Given the description of an element on the screen output the (x, y) to click on. 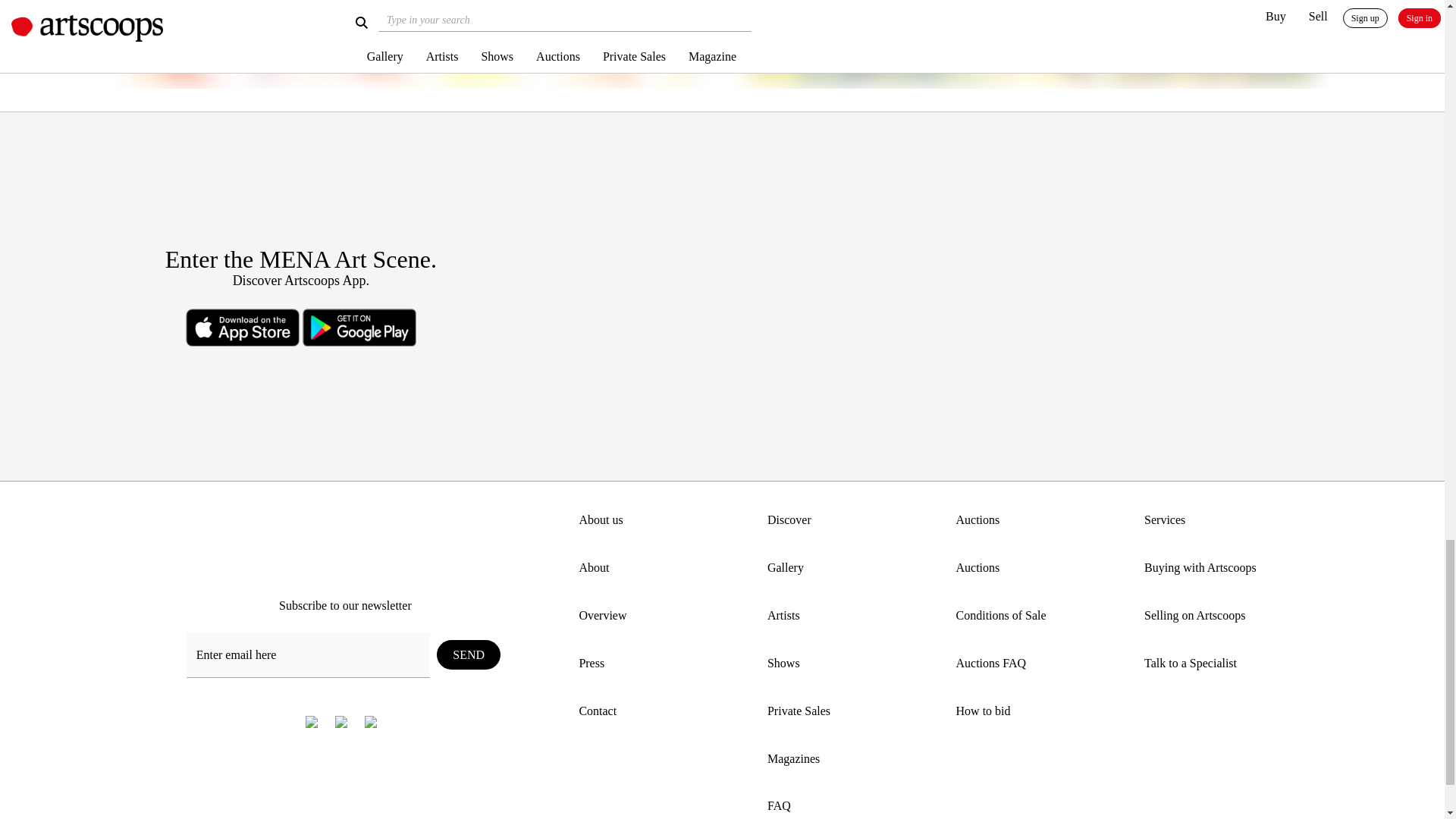
LinkedIn (370, 721)
Instagram (340, 721)
Facebook (311, 721)
